Given the description of an element on the screen output the (x, y) to click on. 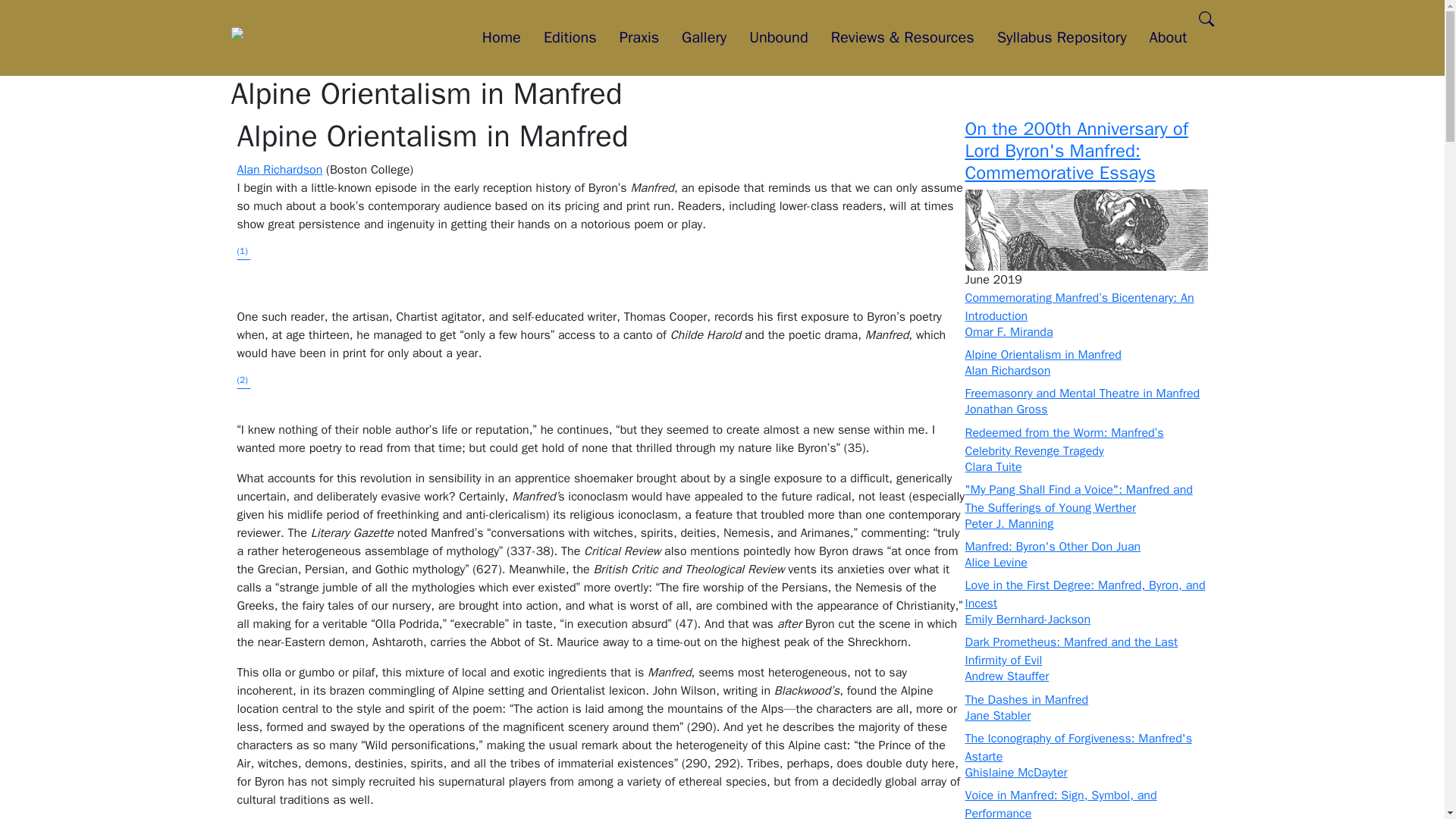
Home (501, 38)
Editions (570, 38)
Alan Richardson (278, 169)
Praxis (638, 38)
Unbound (778, 38)
Gallery (703, 38)
Home (257, 38)
Syllabus Repository (1061, 38)
About (1168, 38)
